Given the description of an element on the screen output the (x, y) to click on. 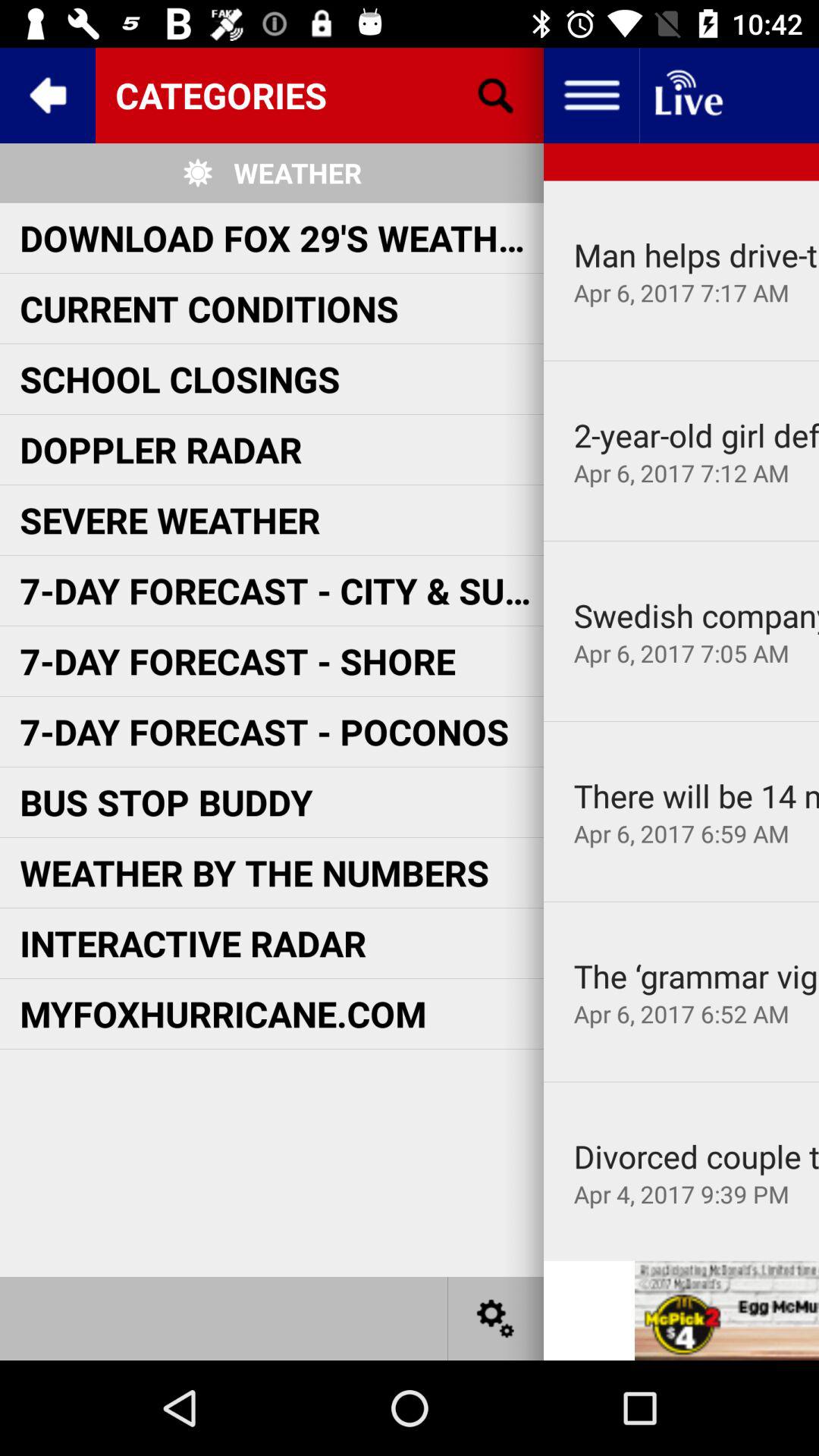
tap icon below weather icon (281, 237)
